Given the description of an element on the screen output the (x, y) to click on. 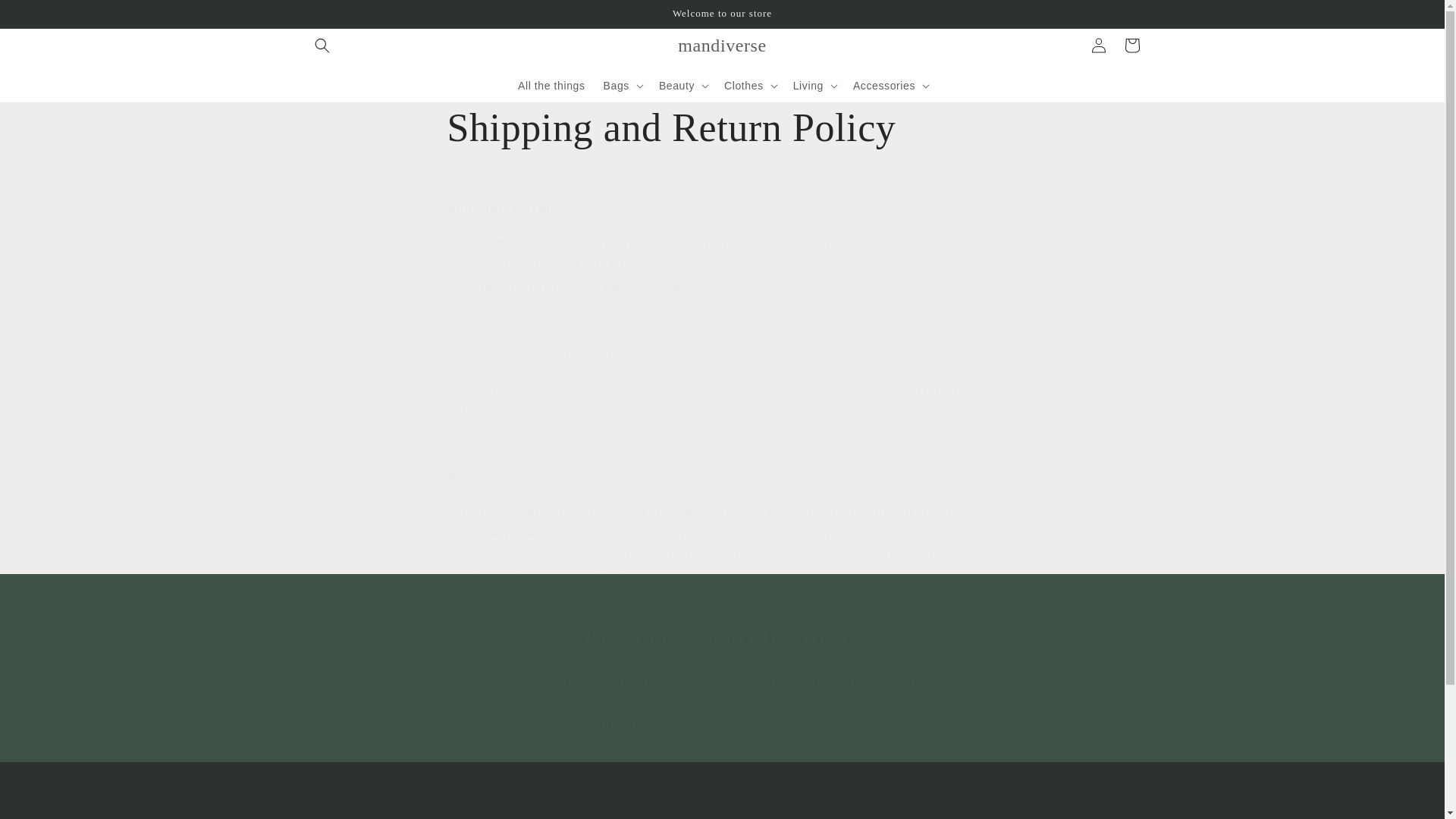
Skip to content (45, 17)
mandiverse (722, 44)
Email (722, 725)
Shipping and Return Policy (721, 127)
Track Order Status (601, 354)
Subscribe to our emails (721, 636)
